Given the description of an element on the screen output the (x, y) to click on. 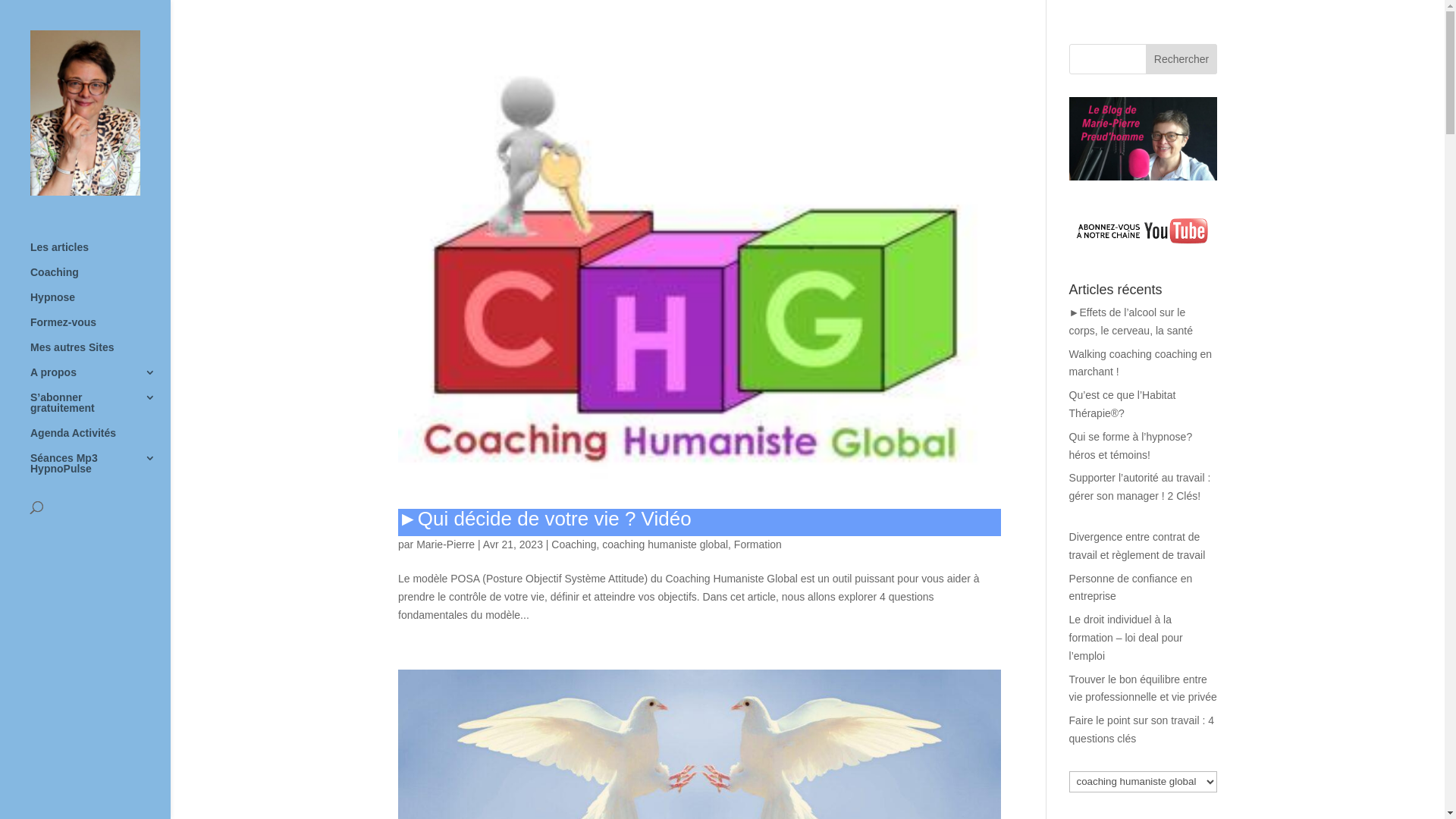
Personne de confiance en entreprise Element type: text (1130, 587)
Formez-vous Element type: text (100, 329)
Les articles Element type: text (100, 253)
Hypnose Element type: text (100, 303)
coaching humaniste global Element type: text (665, 544)
A propos Element type: text (100, 379)
Walking coaching coaching en marchant ! Element type: text (1140, 363)
Formation Element type: text (757, 544)
Coaching Element type: text (573, 544)
Marie-Pierre Element type: text (445, 544)
Mes autres Sites Element type: text (100, 353)
Rechercher Element type: text (1181, 58)
Coaching Element type: text (100, 278)
